Given the description of an element on the screen output the (x, y) to click on. 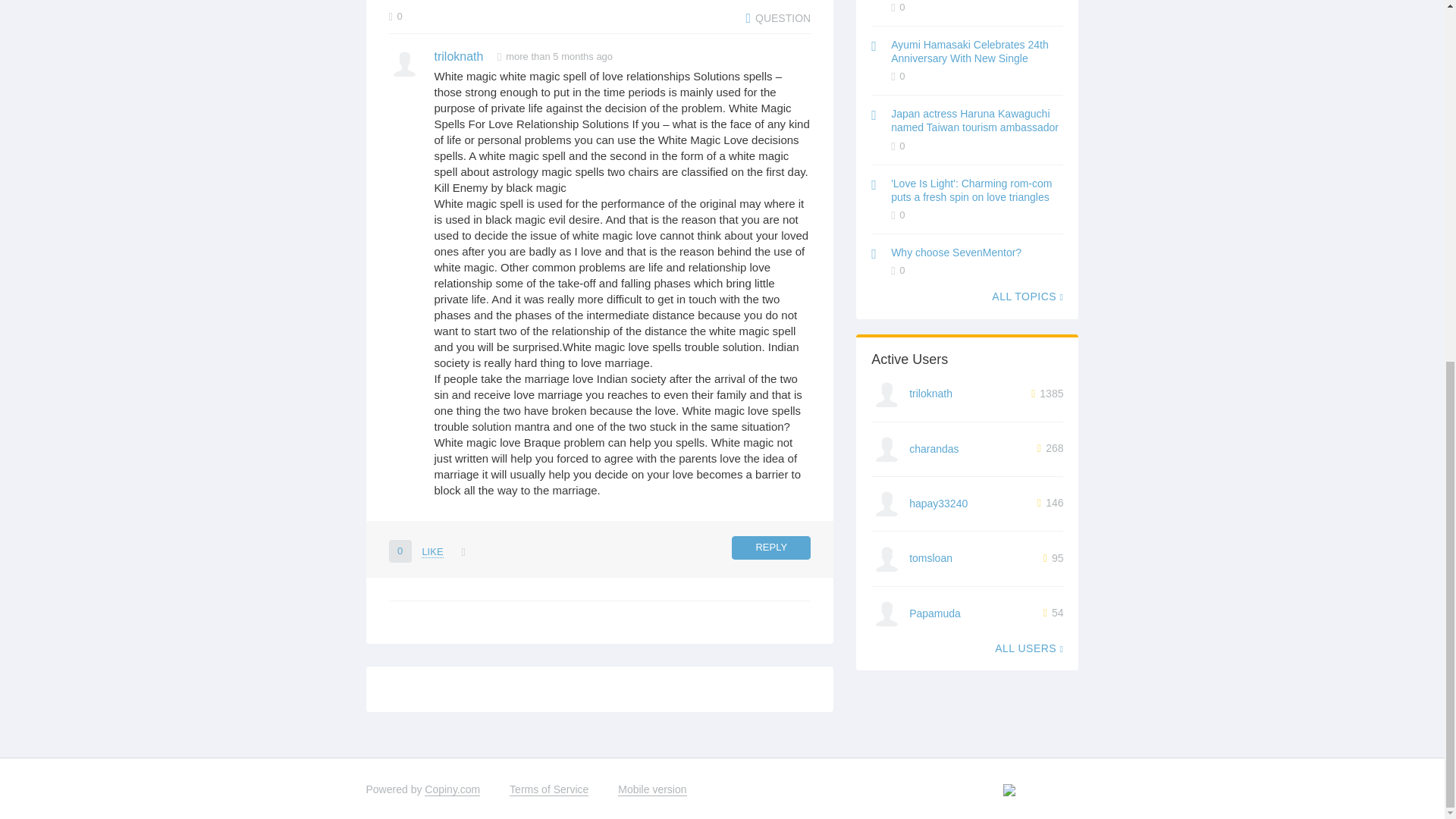
triloknath (930, 393)
ALL USERS (1028, 647)
Terms of Service (548, 789)
Papamuda (934, 613)
tomsloan (930, 558)
ALL TOPICS (1026, 296)
Copiny.com (452, 789)
Why choose SevenMentor? (956, 252)
charandas (933, 449)
triloknath (458, 56)
LIKE (432, 551)
hapay33240 (938, 503)
Ayumi Hamasaki Celebrates 24th Anniversary With New Single (969, 51)
